Given the description of an element on the screen output the (x, y) to click on. 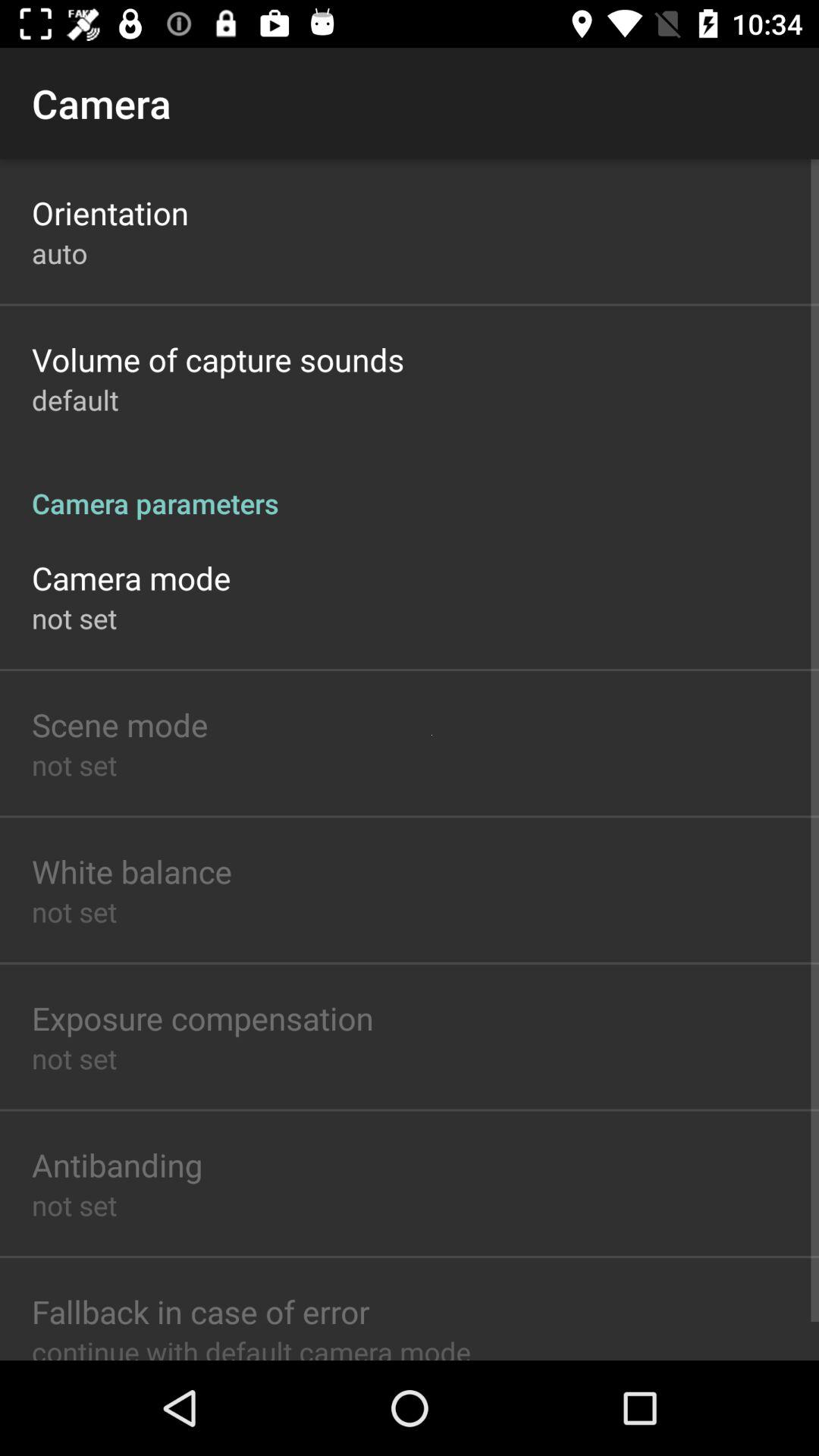
turn off icon above not set (202, 1017)
